Given the description of an element on the screen output the (x, y) to click on. 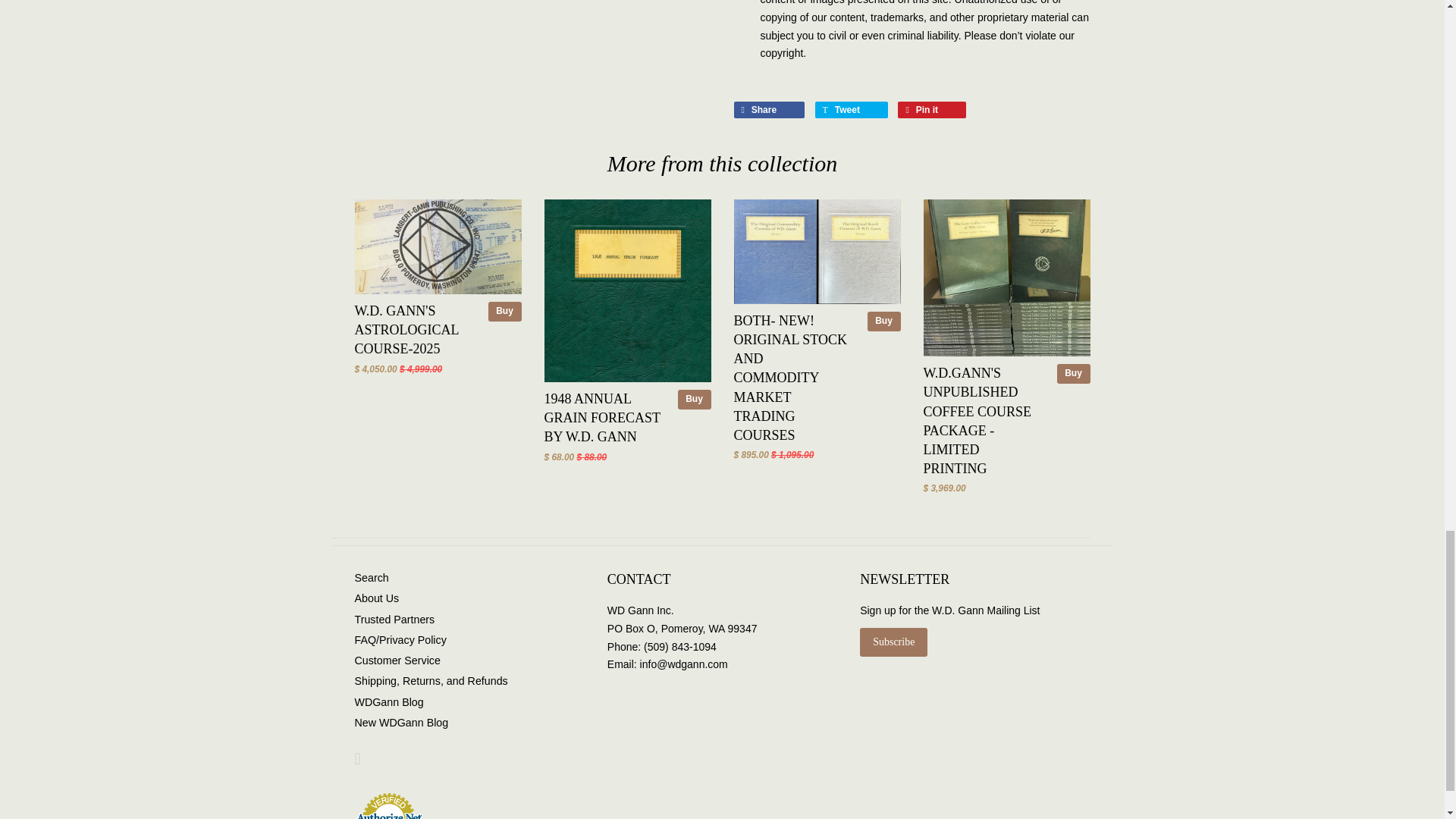
Subscribe (893, 642)
WD Gann, Inc on Facebook (358, 760)
